Given the description of an element on the screen output the (x, y) to click on. 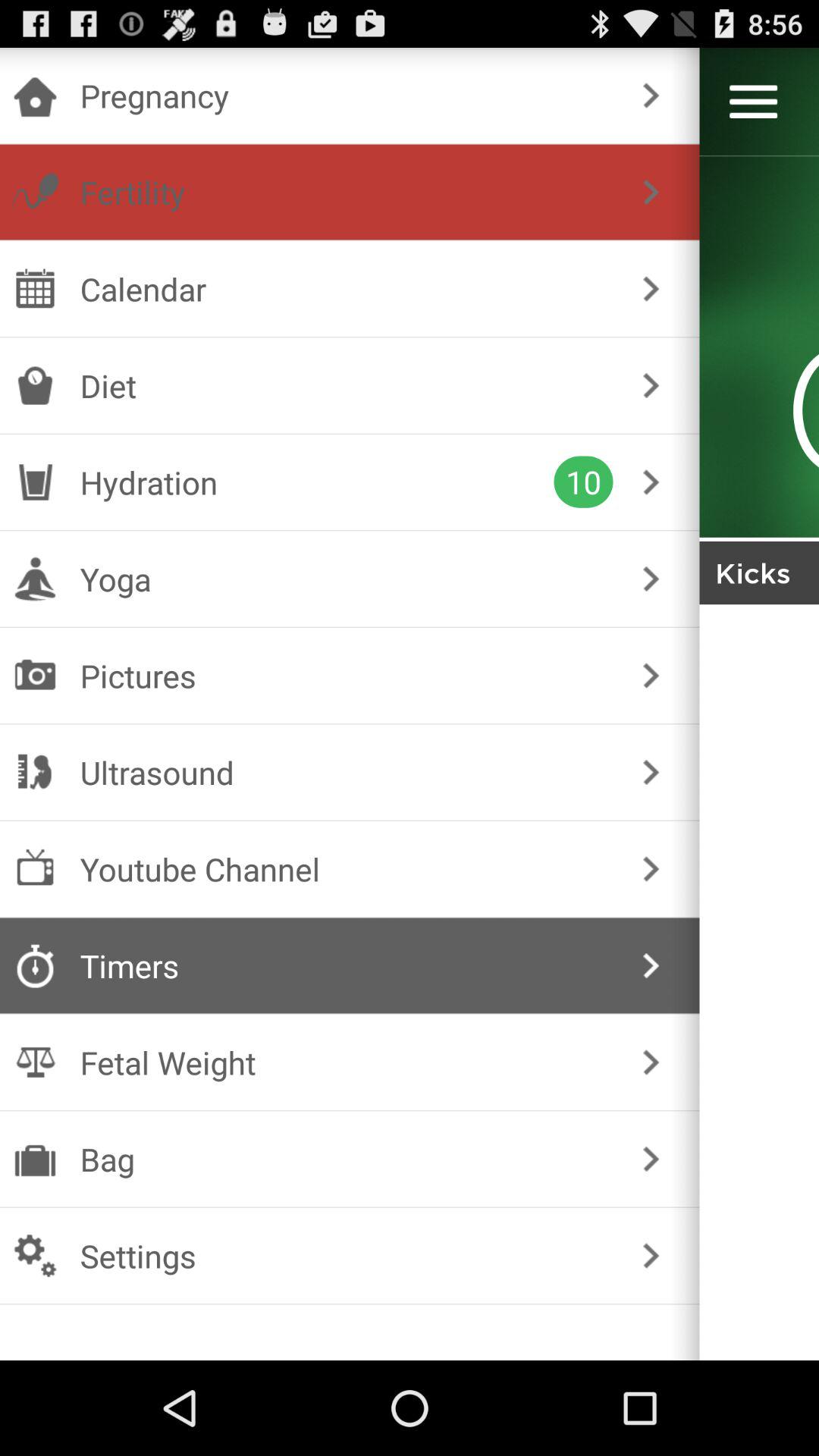
turn off the pregnancy item (346, 95)
